Given the description of an element on the screen output the (x, y) to click on. 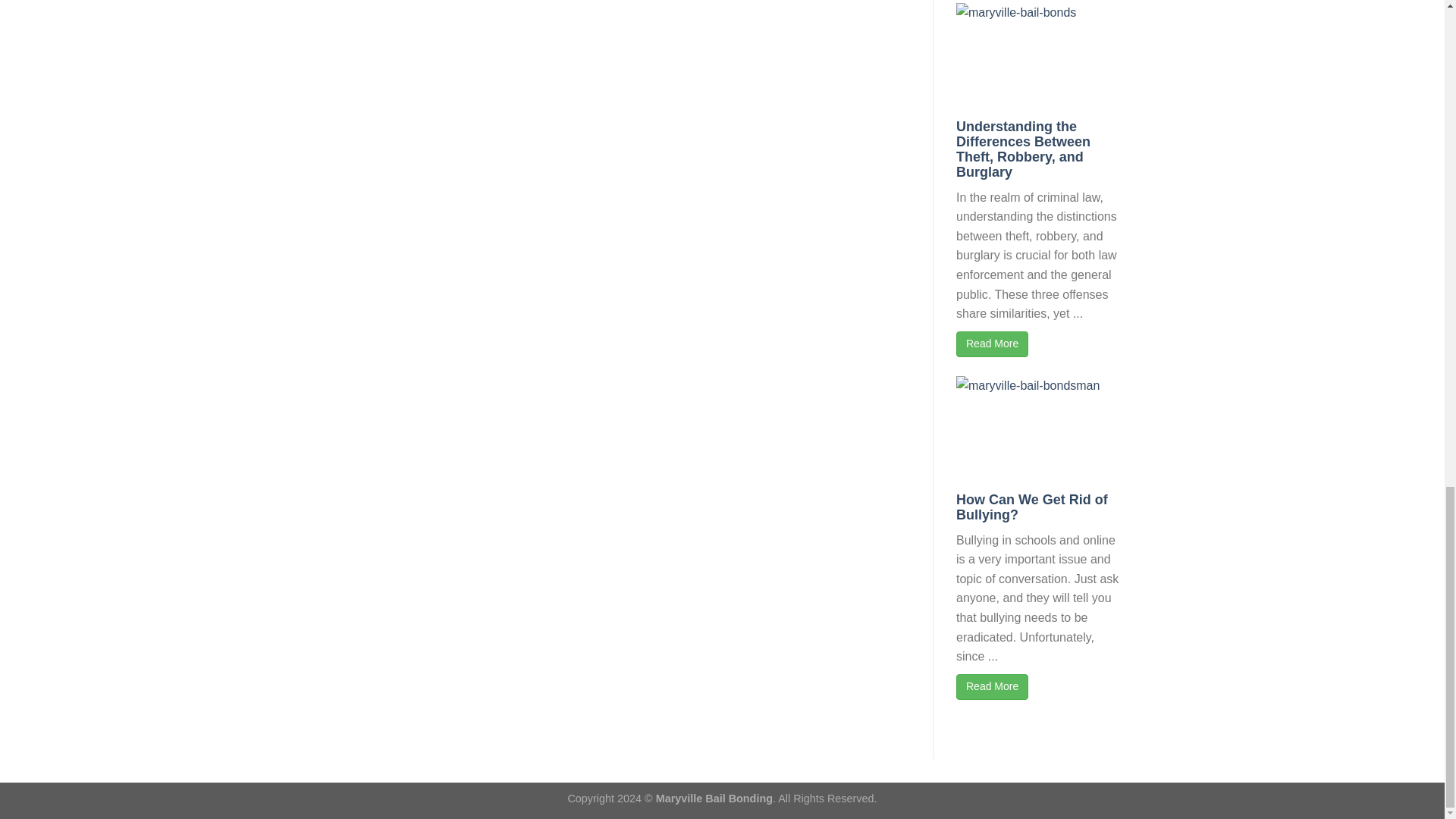
Read More (991, 687)
Read More (991, 344)
How Can We Get Rid of Bullying? (1032, 507)
